Given the description of an element on the screen output the (x, y) to click on. 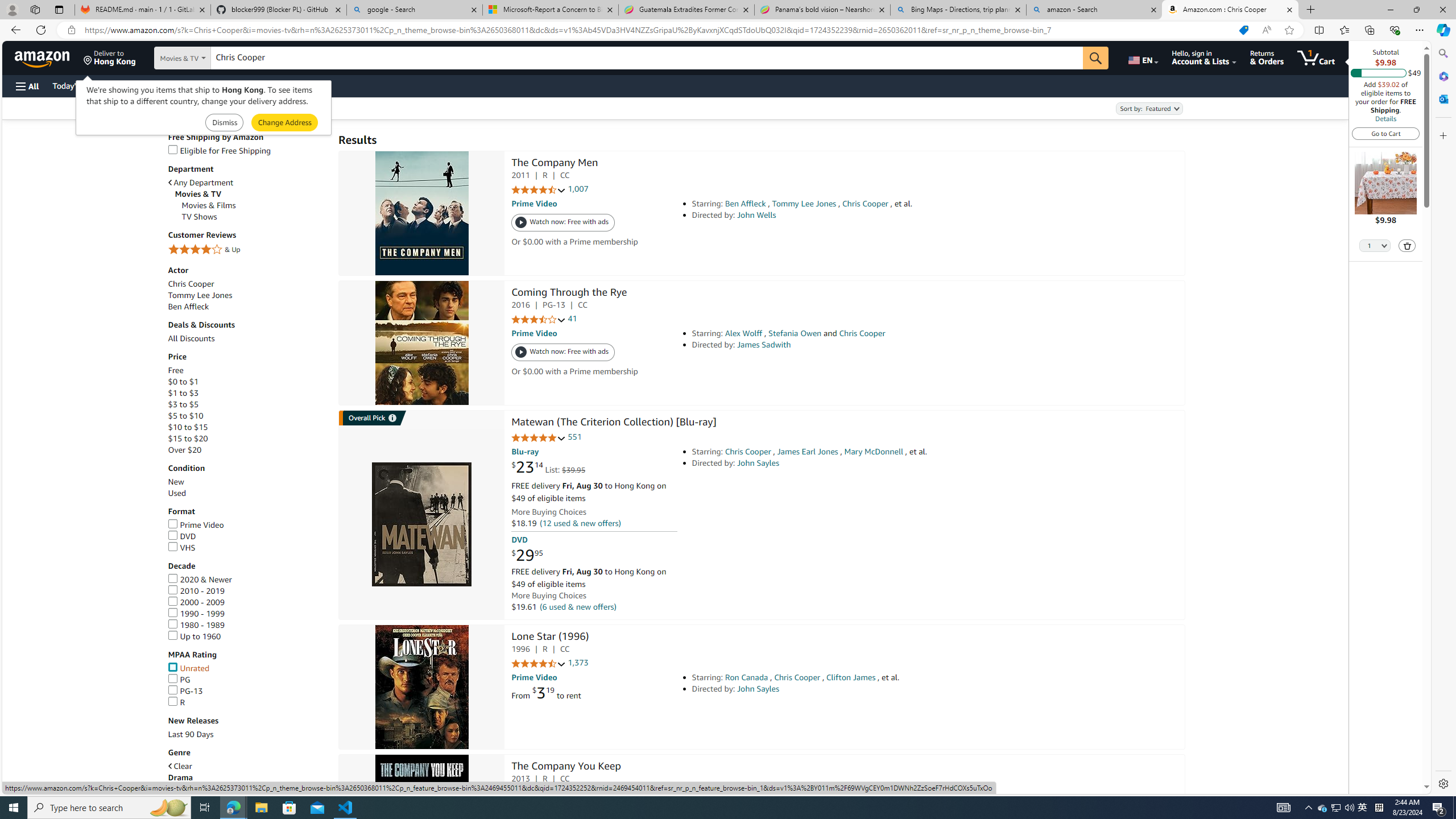
Amazon (43, 57)
1980 - 1989 (195, 624)
$23.14 List: $39.95 (548, 467)
Coming Through the Rye (569, 293)
Used (247, 492)
Clear (179, 765)
Quantity Selector (1374, 245)
Over $20 (184, 449)
Free (175, 370)
Clifton James (850, 677)
